Given the description of an element on the screen output the (x, y) to click on. 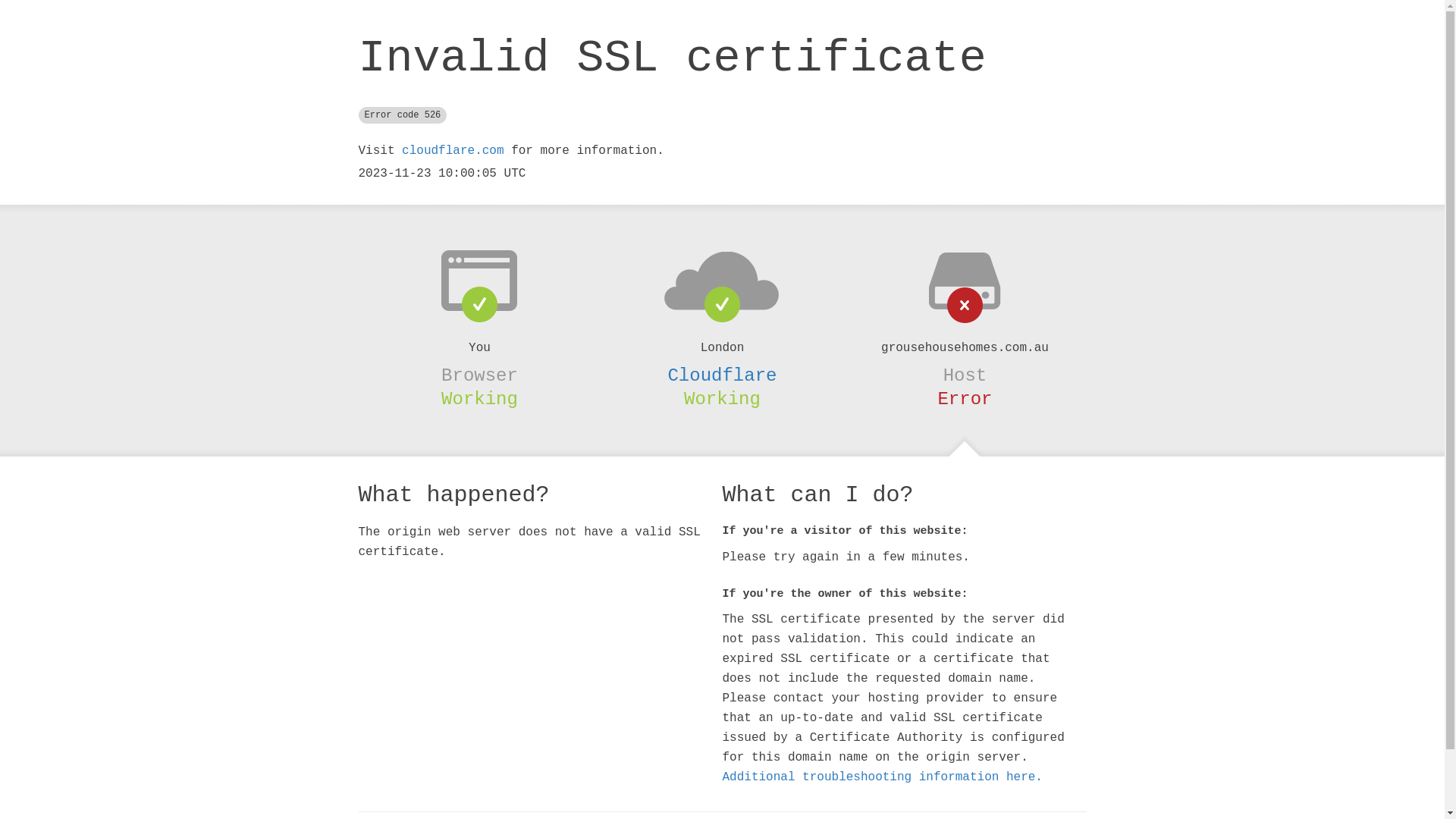
Cloudflare Element type: text (721, 375)
cloudflare.com Element type: text (452, 150)
Additional troubleshooting information here. Element type: text (881, 777)
